Given the description of an element on the screen output the (x, y) to click on. 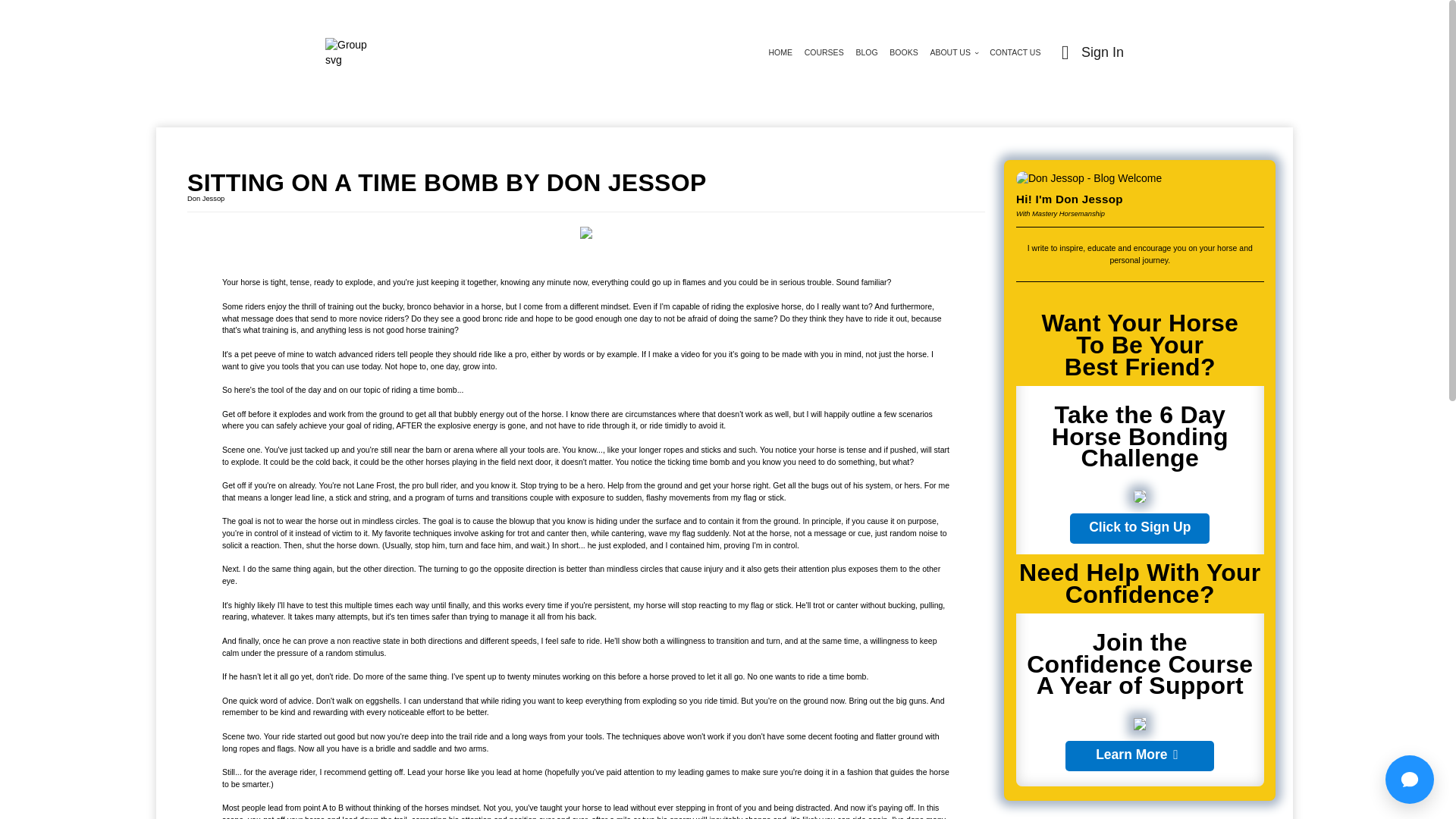
BOOKS (903, 52)
SITTING ON A TIME BOMB BY DON JESSOP (586, 182)
BLOG (866, 52)
COURSES (824, 52)
Open chat window (1410, 779)
ABOUT US (953, 52)
HOME (780, 52)
